Given the description of an element on the screen output the (x, y) to click on. 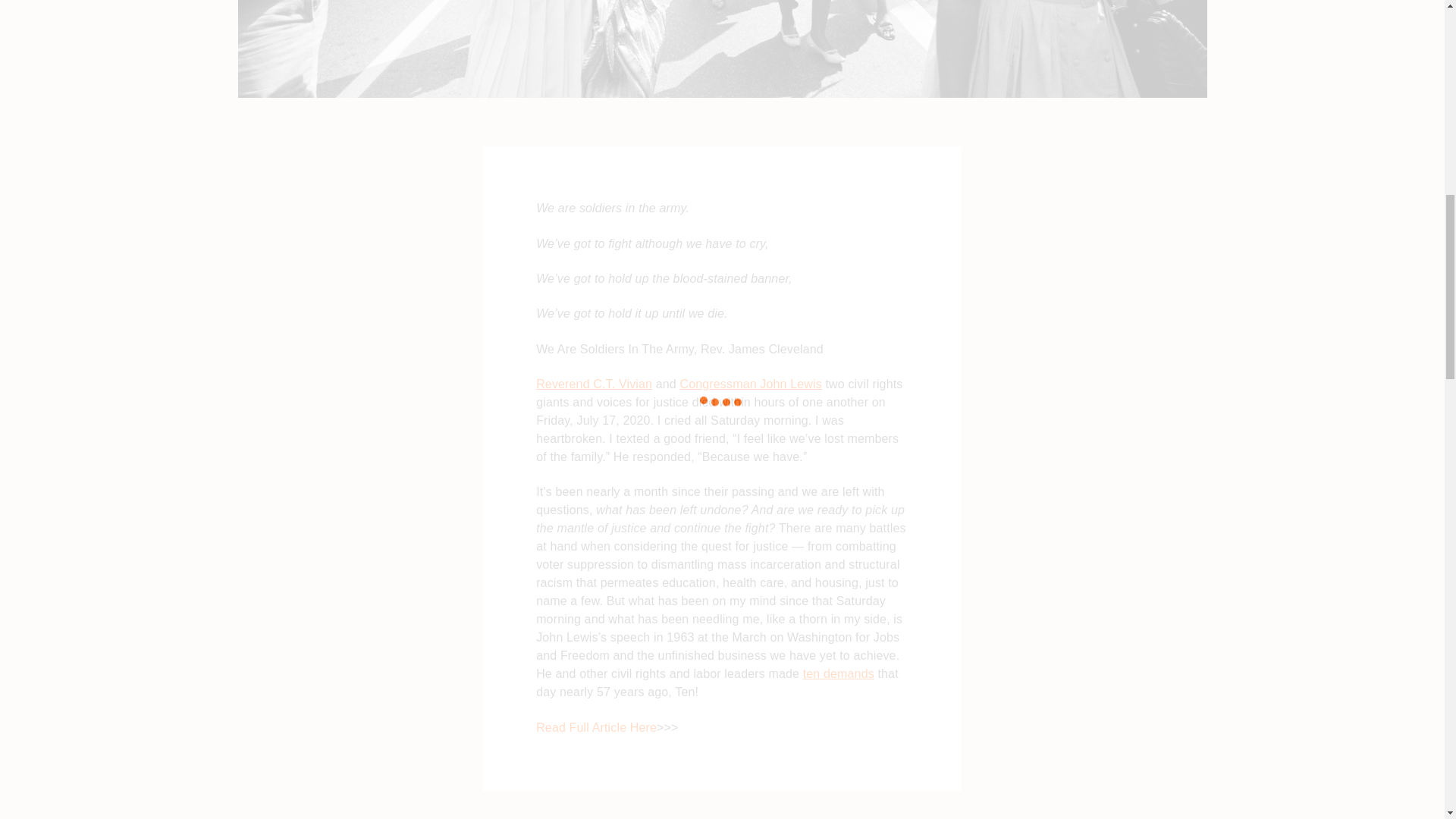
Read Full Article Here (595, 727)
Reverend C.T. Vivian (593, 383)
ten demands (839, 673)
Congressman John Lewis (750, 383)
